Given the description of an element on the screen output the (x, y) to click on. 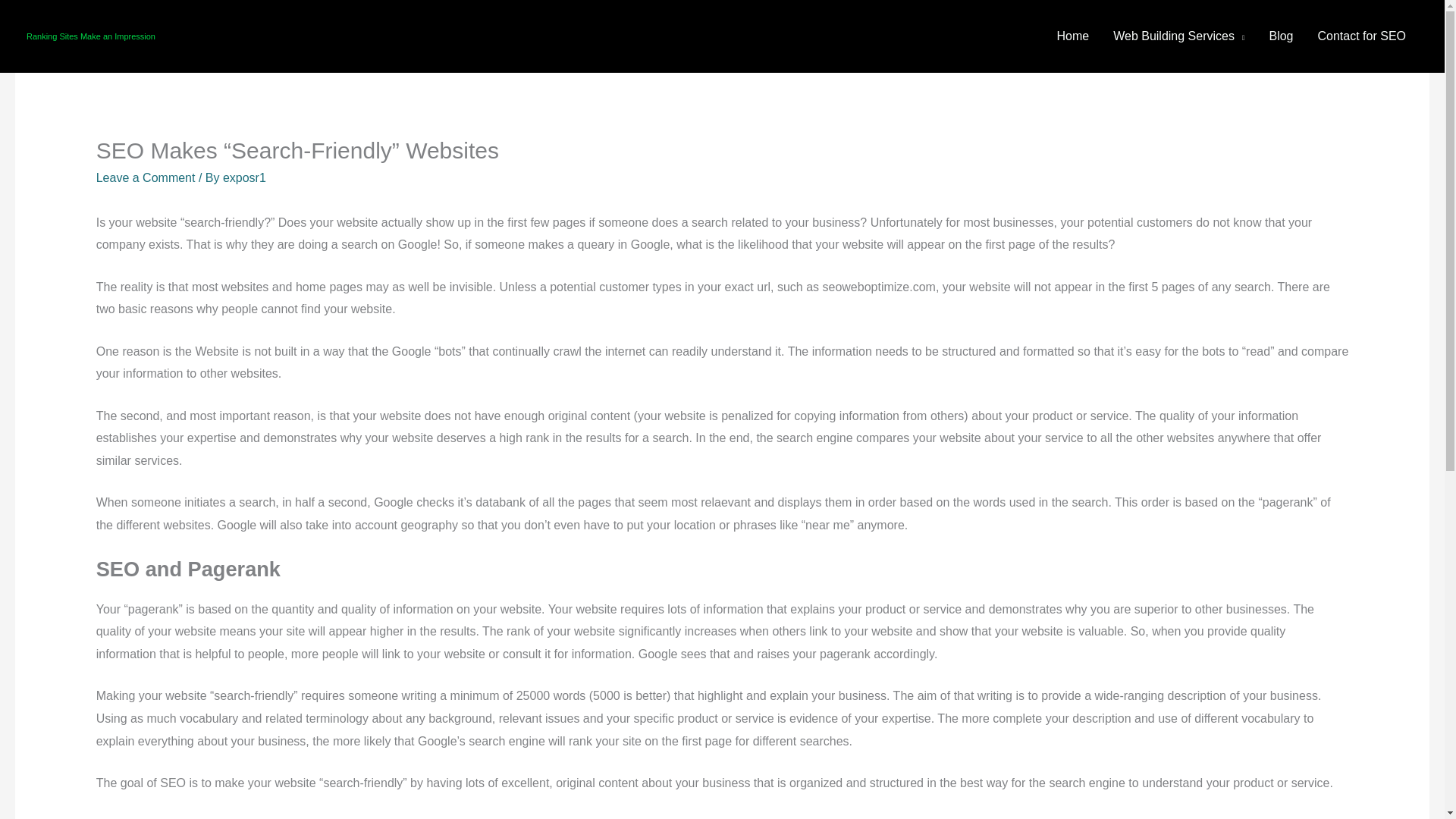
Home (1071, 36)
exposr1 (244, 177)
Blog (1280, 36)
Leave a Comment (145, 177)
Web Building Services (1178, 36)
View all posts by exposr1 (244, 177)
Contact for SEO (1362, 36)
